Given the description of an element on the screen output the (x, y) to click on. 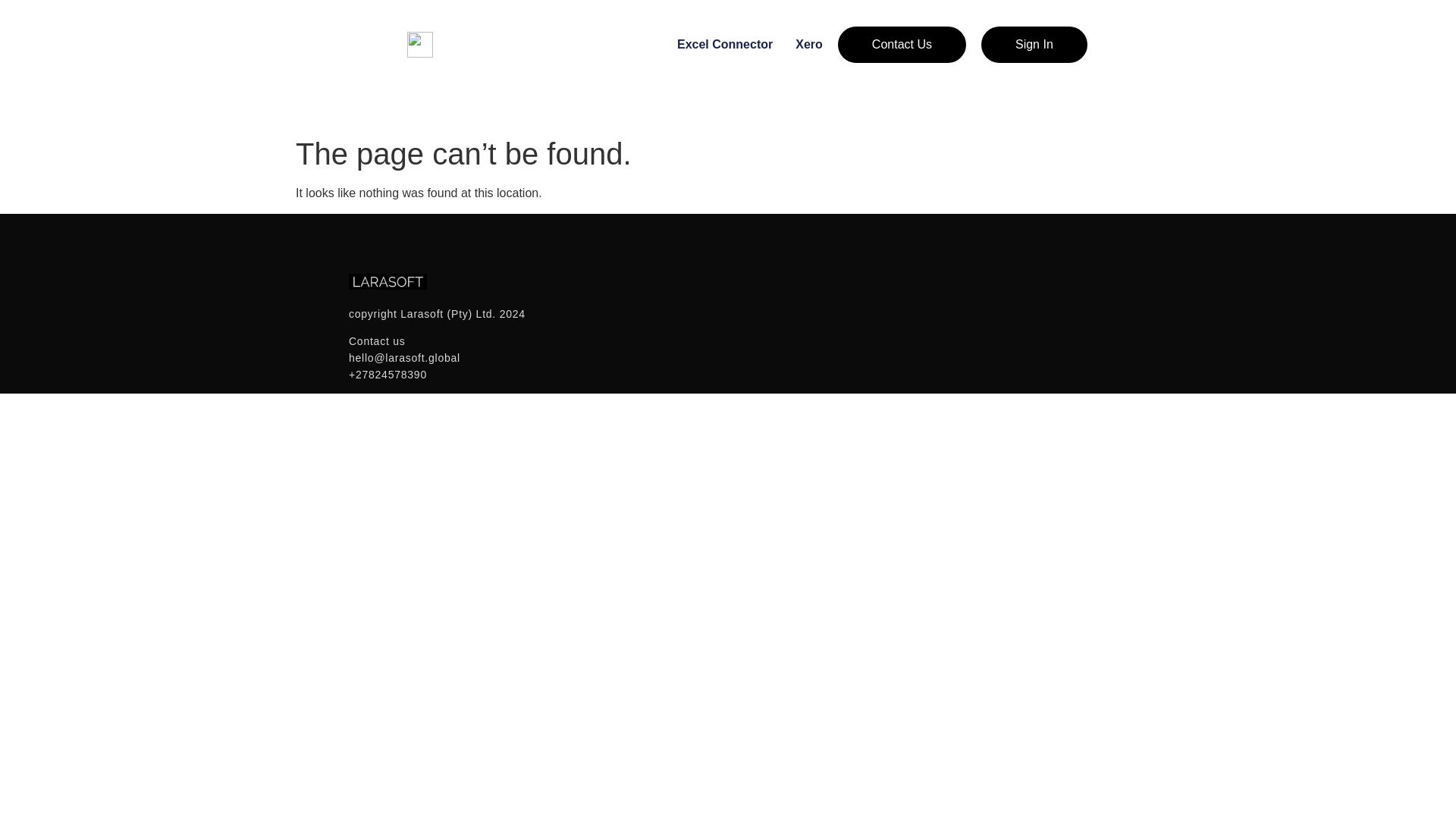
Excel Connector (725, 44)
Contact Us (902, 44)
Sign In (1034, 44)
Xero (808, 44)
